Given the description of an element on the screen output the (x, y) to click on. 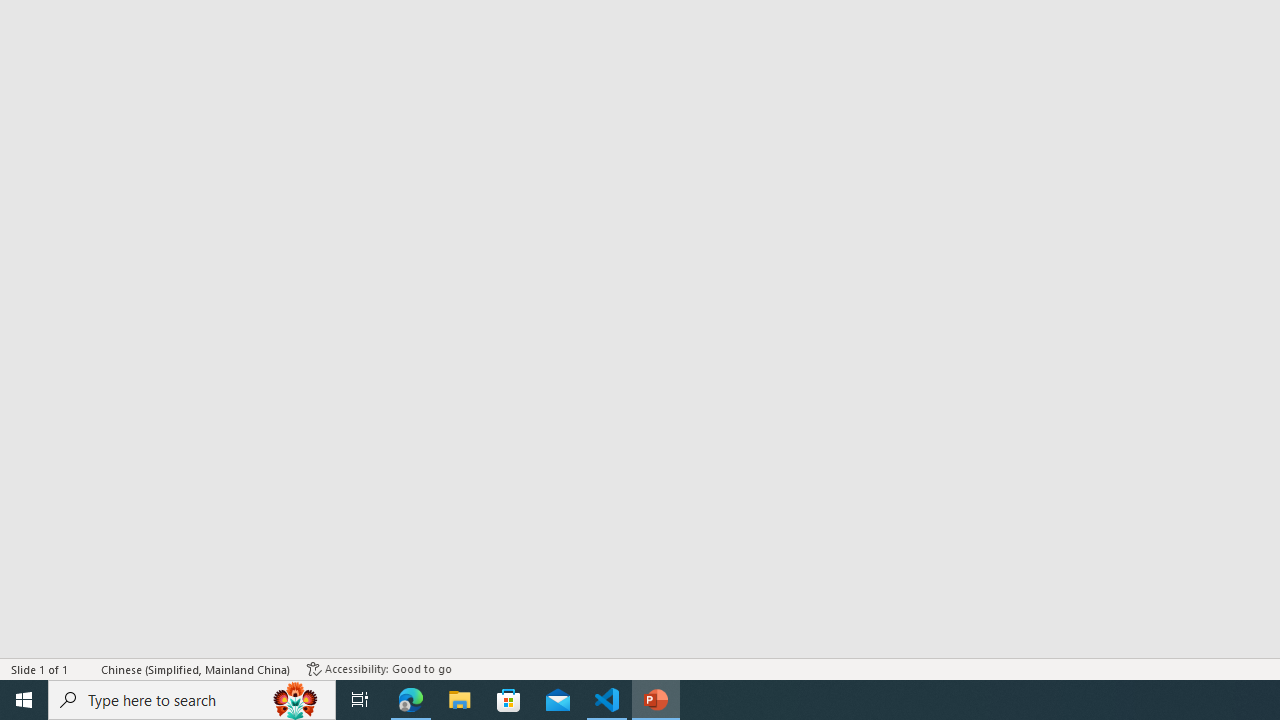
Spell Check  (86, 668)
Accessibility Checker Accessibility: Good to go (379, 668)
